Given the description of an element on the screen output the (x, y) to click on. 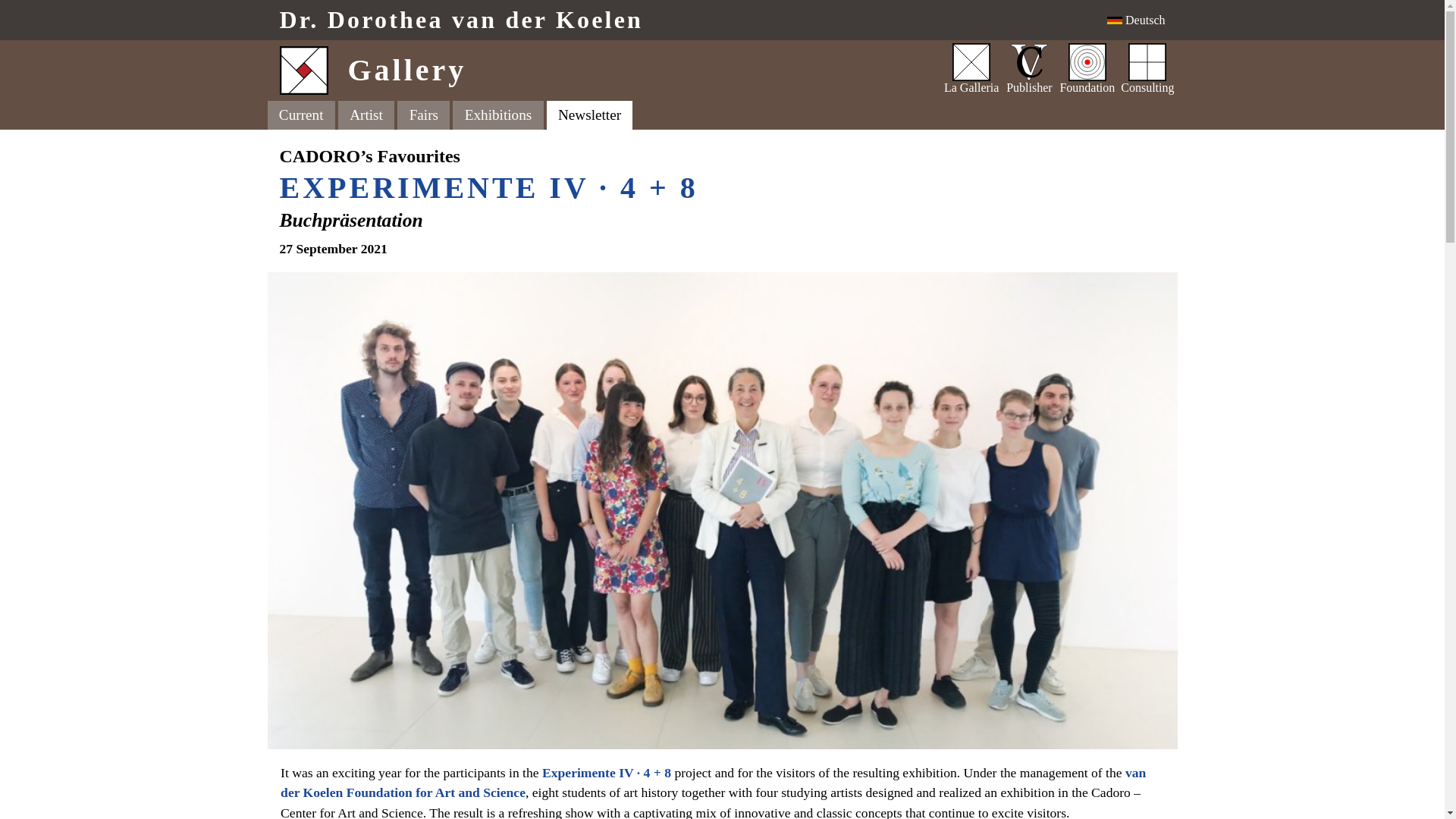
Exhibitions (497, 114)
Consulting (1147, 70)
Artist (673, 20)
Dr. van der Koelen Consulting (365, 114)
About us (1147, 70)
Foundation (673, 20)
Fairs (1087, 70)
Gallery Dorothea van der Koelen (423, 114)
Gallery (603, 70)
